Given the description of an element on the screen output the (x, y) to click on. 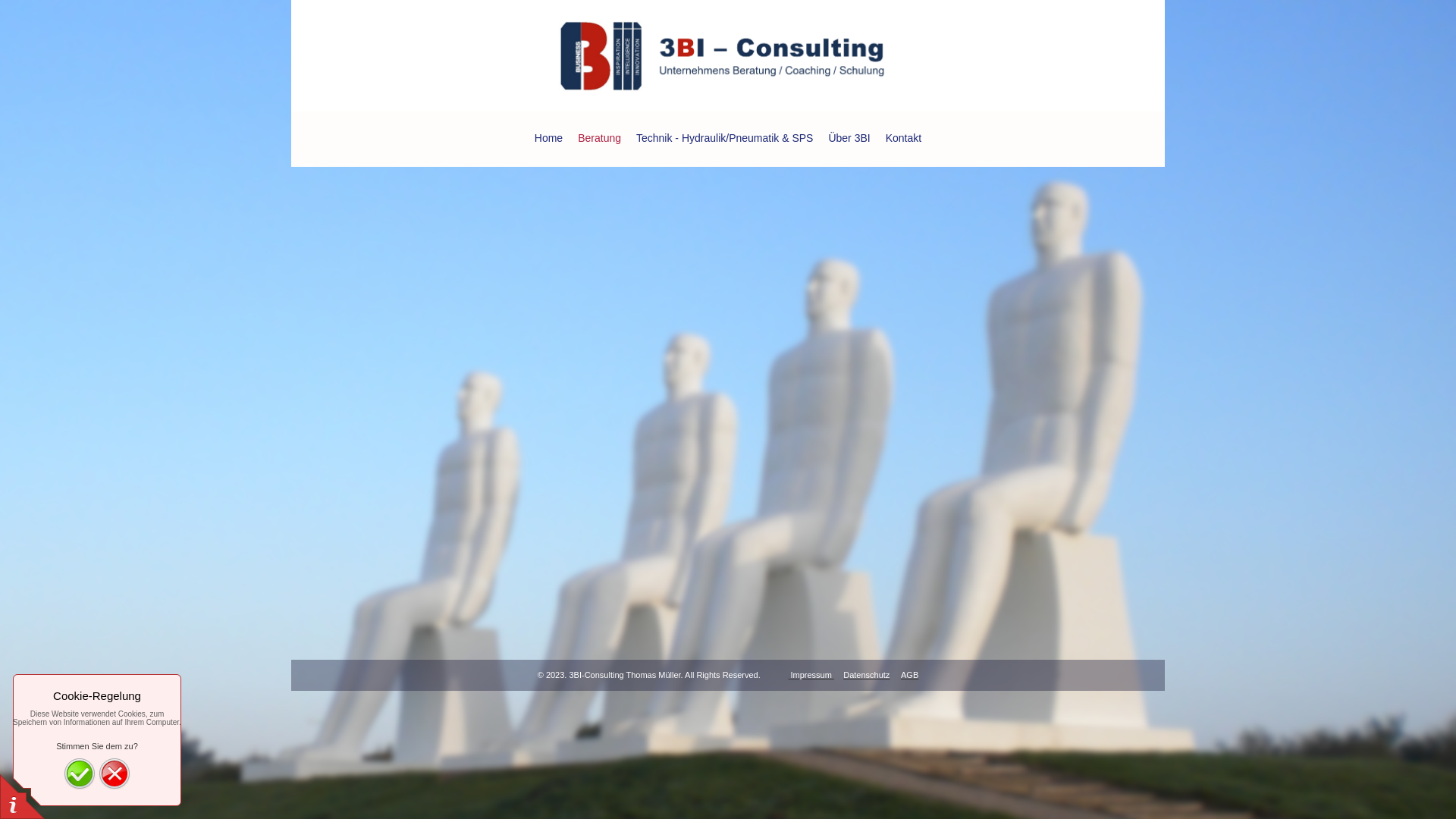
Nein danke, weiter zu Google Element type: hover (114, 774)
AGB Element type: text (909, 674)
Ja, ich stimme zu Element type: hover (79, 774)
Home Element type: text (548, 138)
Datenschutz Element type: text (866, 674)
Kontakt Element type: text (903, 138)
Technik - Hydraulik/Pneumatik & SPS Element type: text (724, 138)
Beratung Element type: text (599, 138)
Impressum  Element type: text (810, 674)
